Given the description of an element on the screen output the (x, y) to click on. 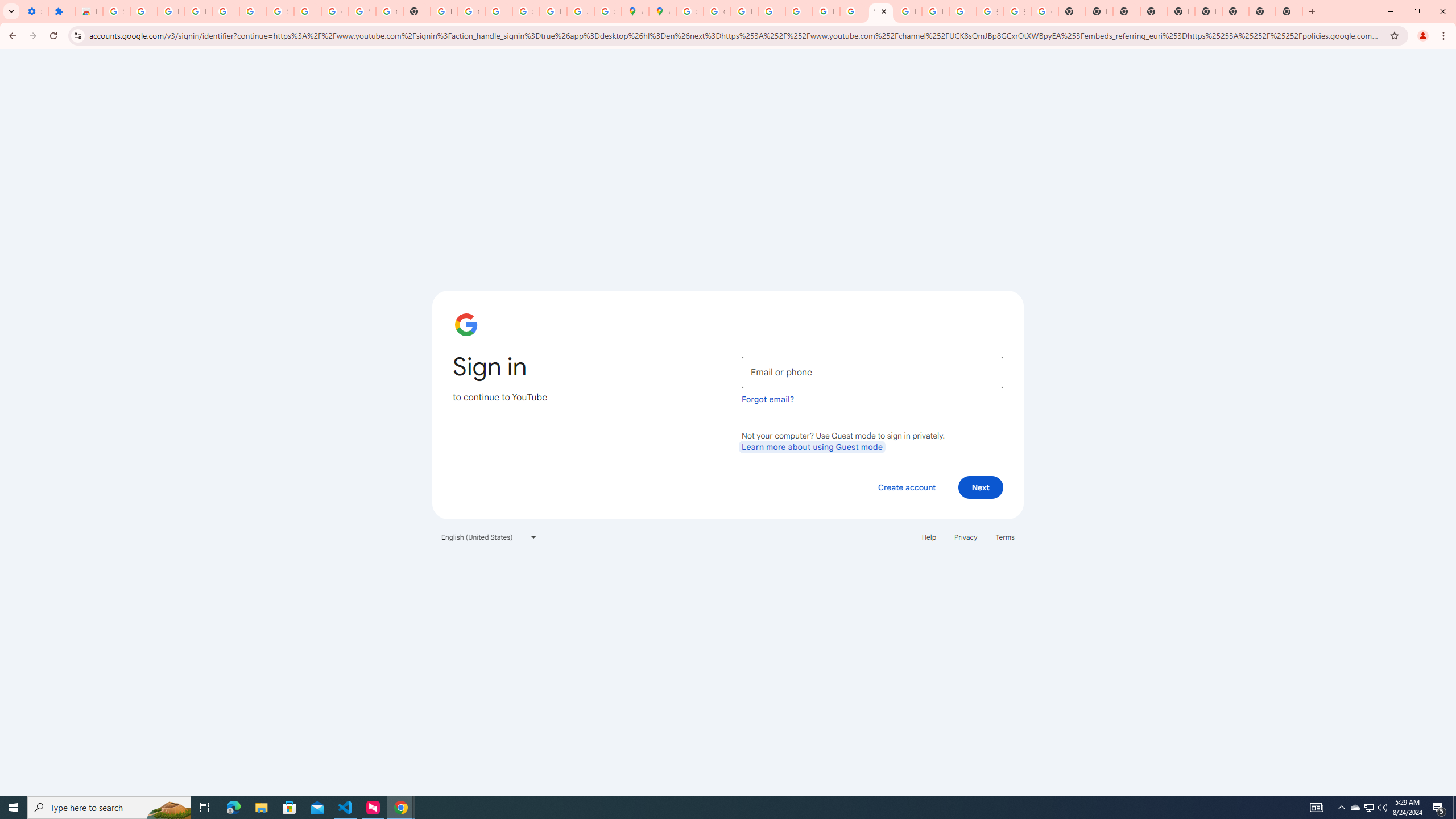
https://scholar.google.com/ (444, 11)
